Given the description of an element on the screen output the (x, y) to click on. 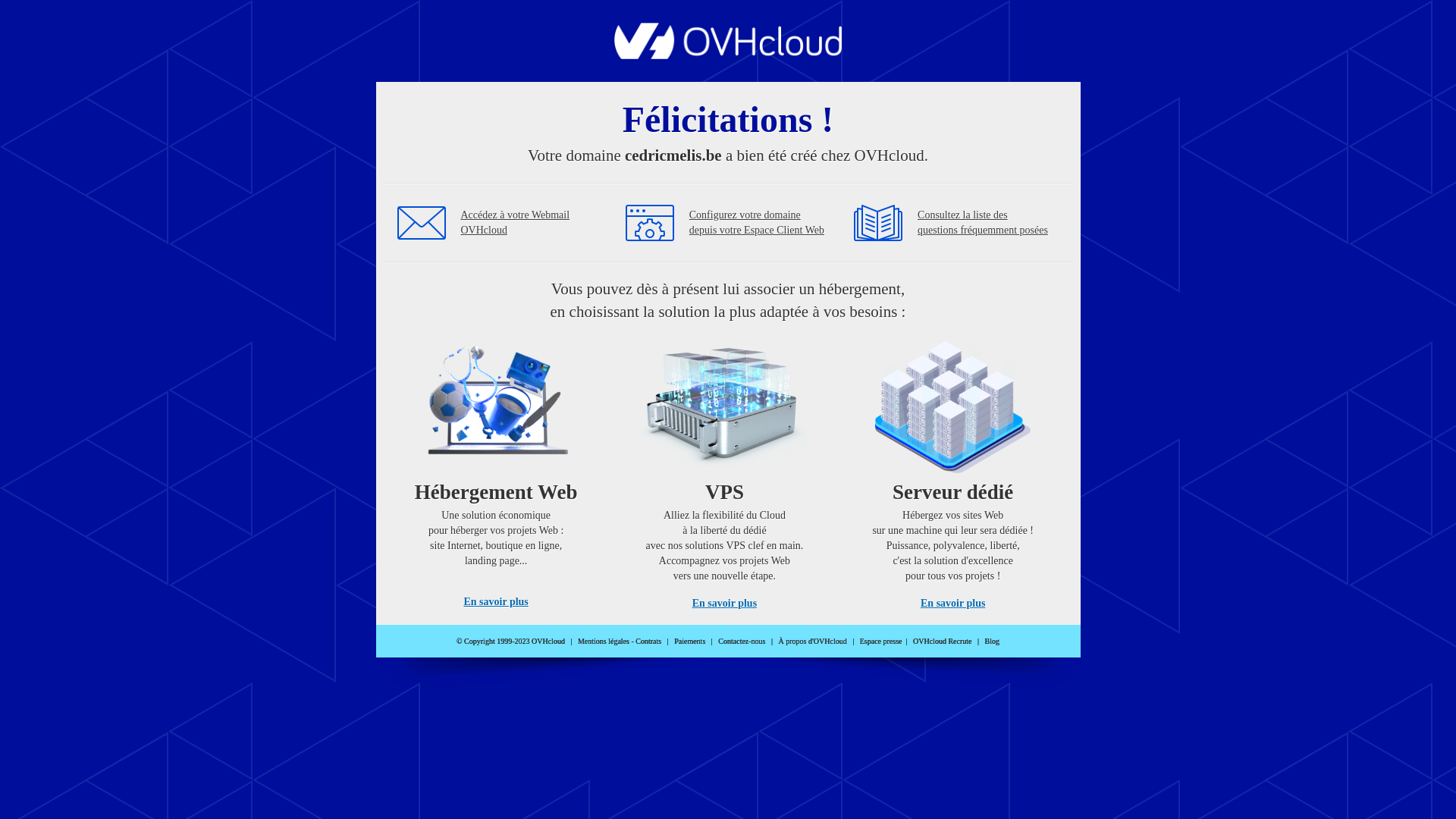
Espace presse Element type: text (880, 641)
En savoir plus Element type: text (952, 602)
OVHcloud Element type: hover (727, 54)
En savoir plus Element type: text (724, 602)
Blog Element type: text (992, 641)
OVHcloud Recrute Element type: text (942, 641)
En savoir plus Element type: text (495, 601)
Paiements Element type: text (689, 641)
VPS Element type: hover (724, 469)
Configurez votre domaine
depuis votre Espace Client Web Element type: text (756, 222)
Contactez-nous Element type: text (741, 641)
